Given the description of an element on the screen output the (x, y) to click on. 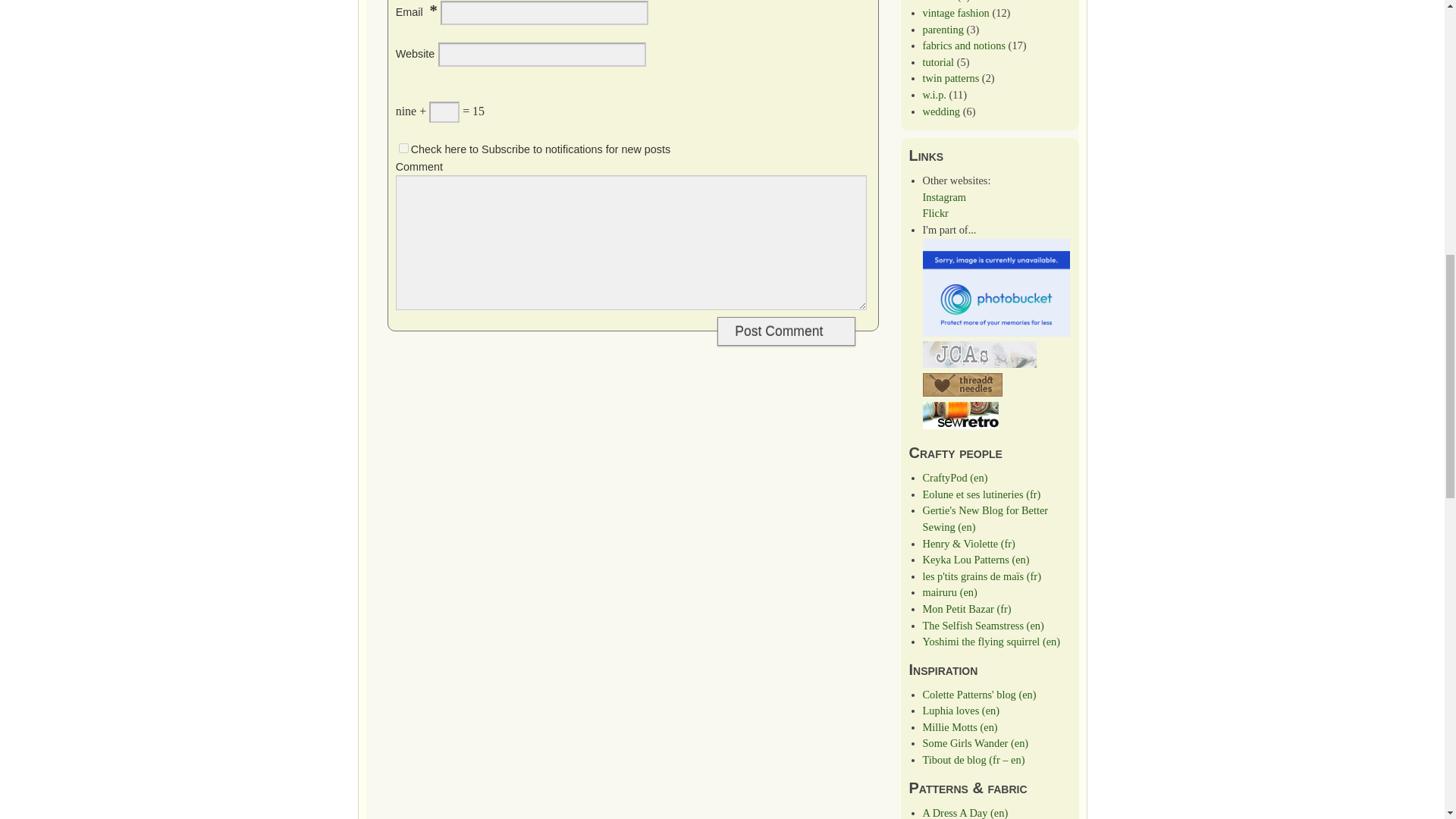
1 (403, 148)
Post Comment (786, 330)
Post Comment (786, 330)
